Given the description of an element on the screen output the (x, y) to click on. 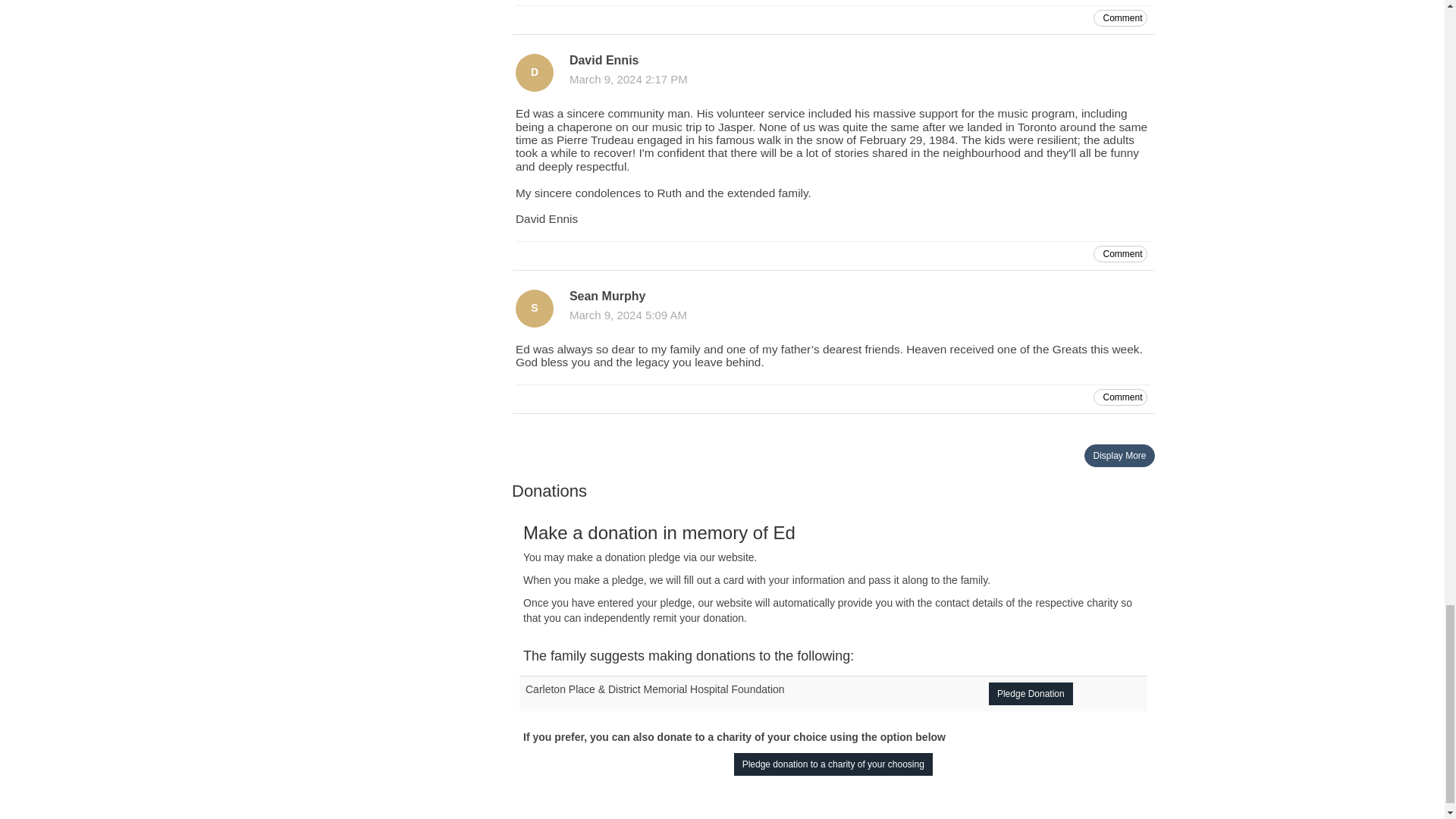
Display More (1119, 455)
  Comment (1120, 397)
Pledge Donation (1030, 693)
  Comment (1120, 17)
Sean Murphy (534, 308)
  Comment (1120, 253)
Pledge donation to a charity of your choosing (833, 763)
David Ennis (534, 72)
